Given the description of an element on the screen output the (x, y) to click on. 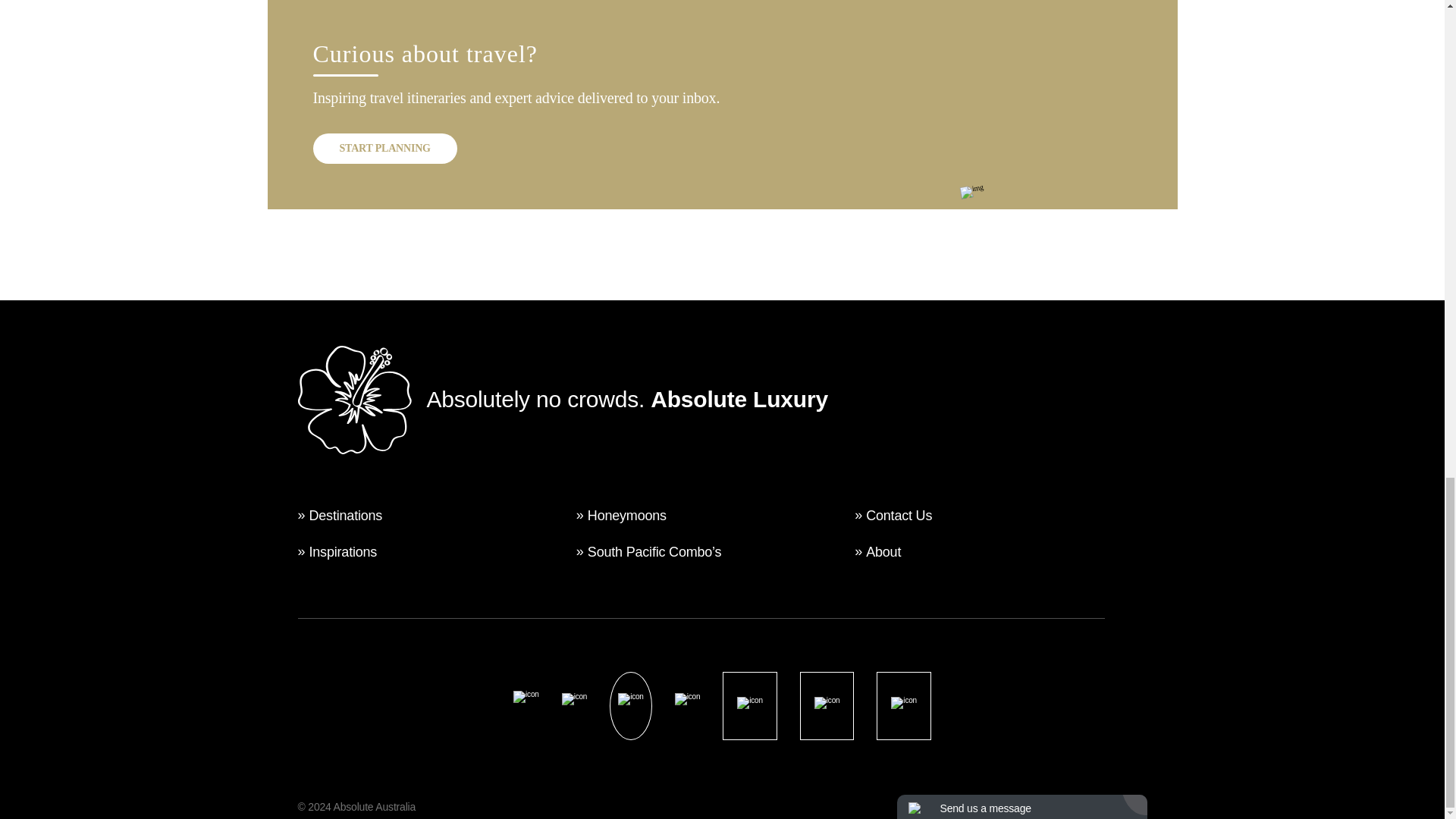
About (883, 551)
Destinations (345, 515)
Honeymoons (627, 515)
Contact Us (898, 515)
Absolutely no crowds. Absolute Luxury (562, 399)
Inspirations (342, 551)
START PLANNING (385, 148)
